Given the description of an element on the screen output the (x, y) to click on. 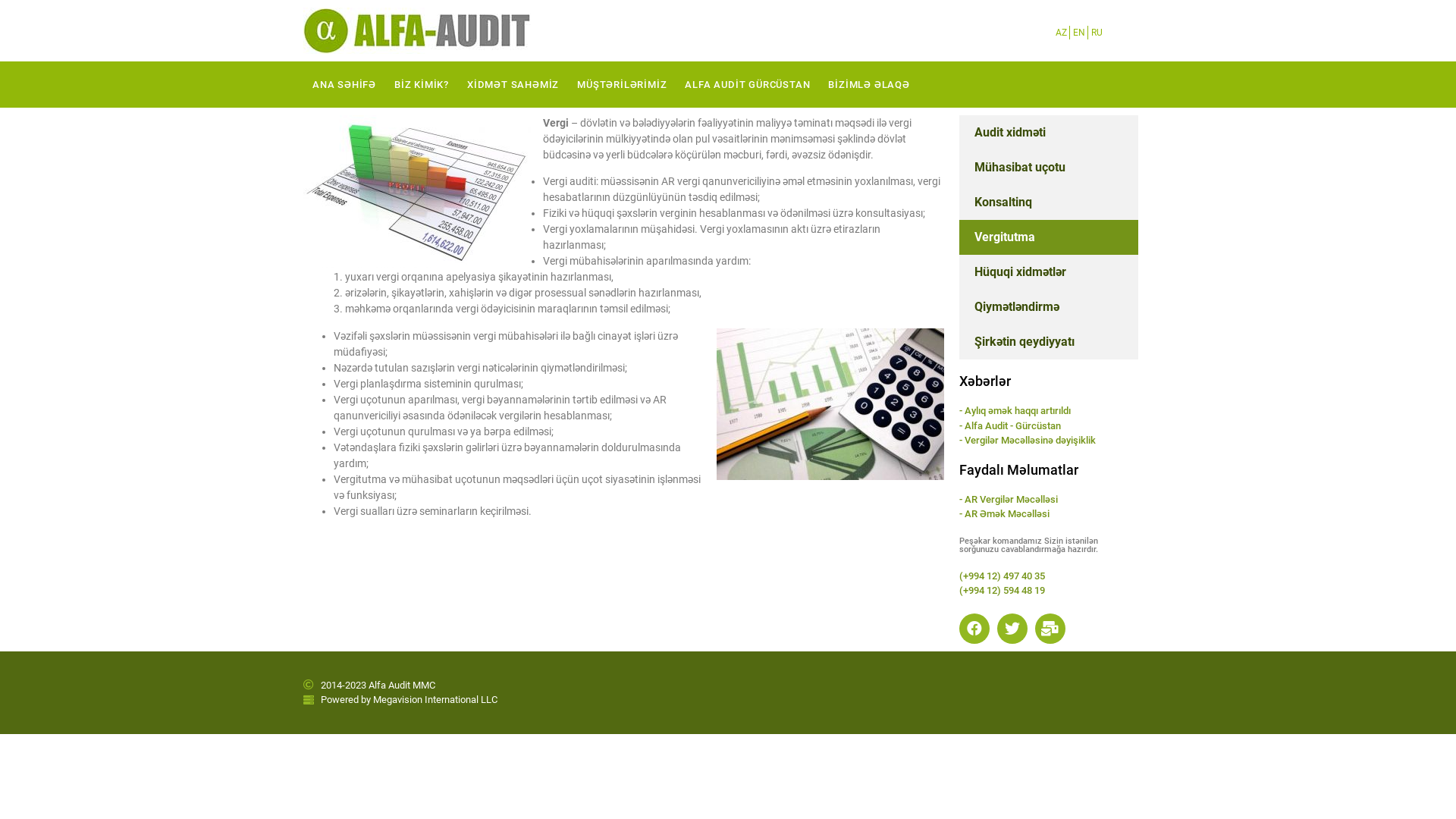
EN Element type: text (1079, 32)
Vergitutma Element type: text (1048, 236)
AZ Element type: text (1060, 32)
RU Element type: text (1096, 32)
Konsaltinq Element type: text (1048, 202)
